Given the description of an element on the screen output the (x, y) to click on. 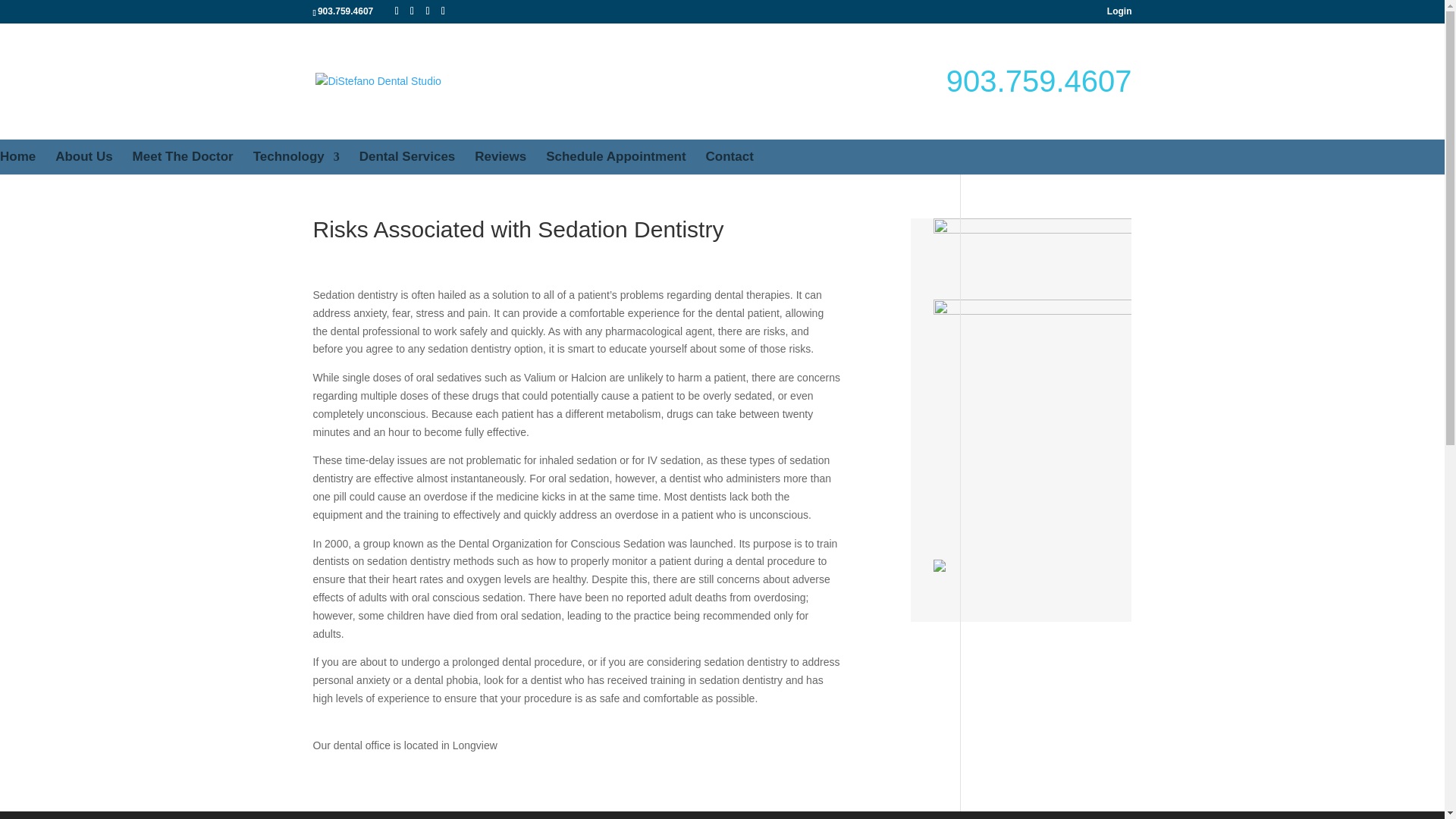
Home (17, 156)
Technology (296, 156)
903.759.4607 (344, 10)
About Us (84, 156)
903.759.4607 (1039, 80)
Meet The Doctor (182, 156)
Contact (730, 156)
Schedule Appointment (615, 156)
Login (1119, 12)
Reviews (499, 156)
